Given the description of an element on the screen output the (x, y) to click on. 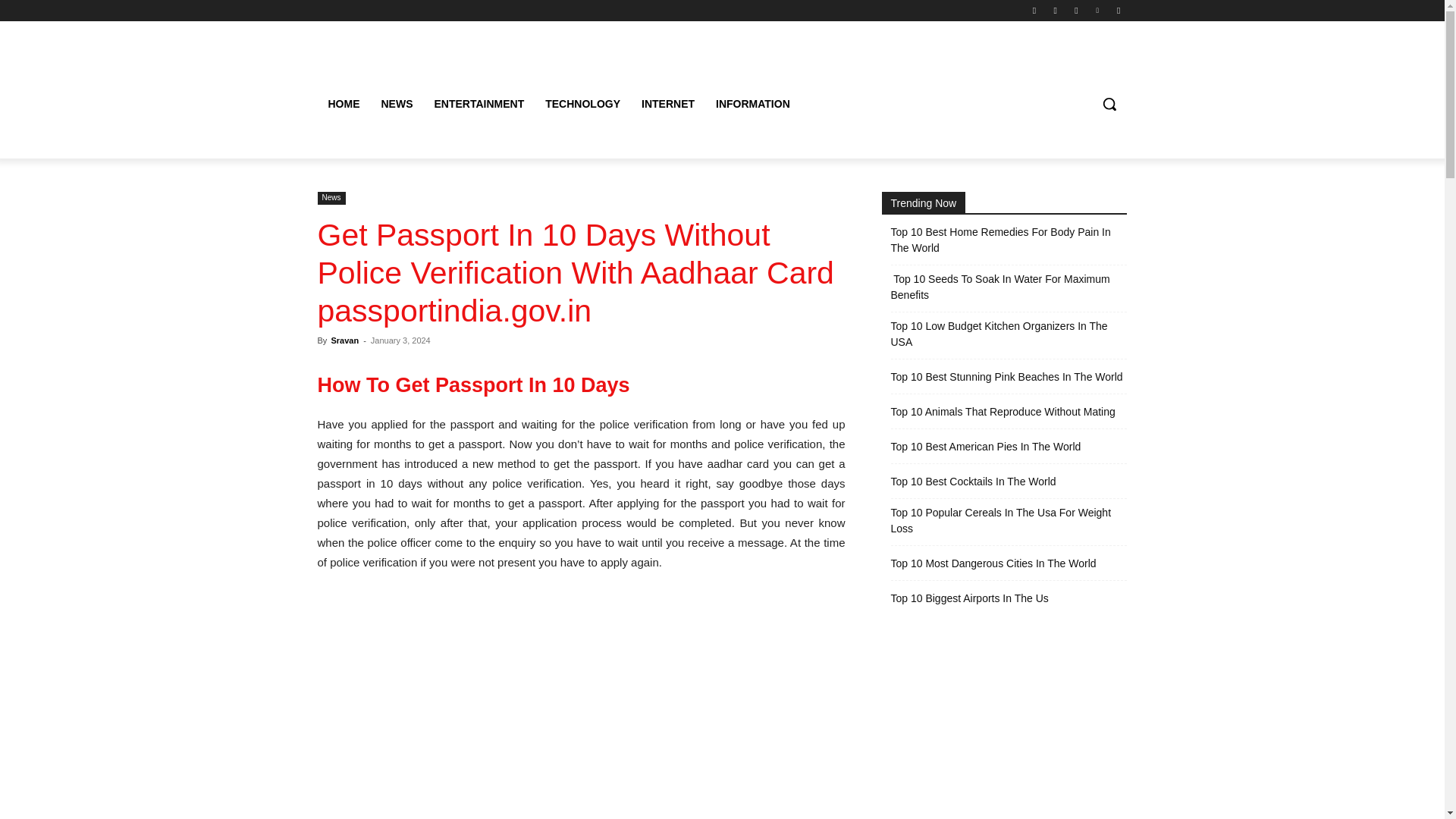
INTERNET (667, 103)
Youtube (1117, 9)
Sravan (344, 339)
INFORMATION (752, 103)
Instagram (1055, 9)
Twitter (1075, 9)
News (331, 197)
Facebook (1034, 9)
Vimeo (1097, 9)
NEWS (396, 103)
